Given the description of an element on the screen output the (x, y) to click on. 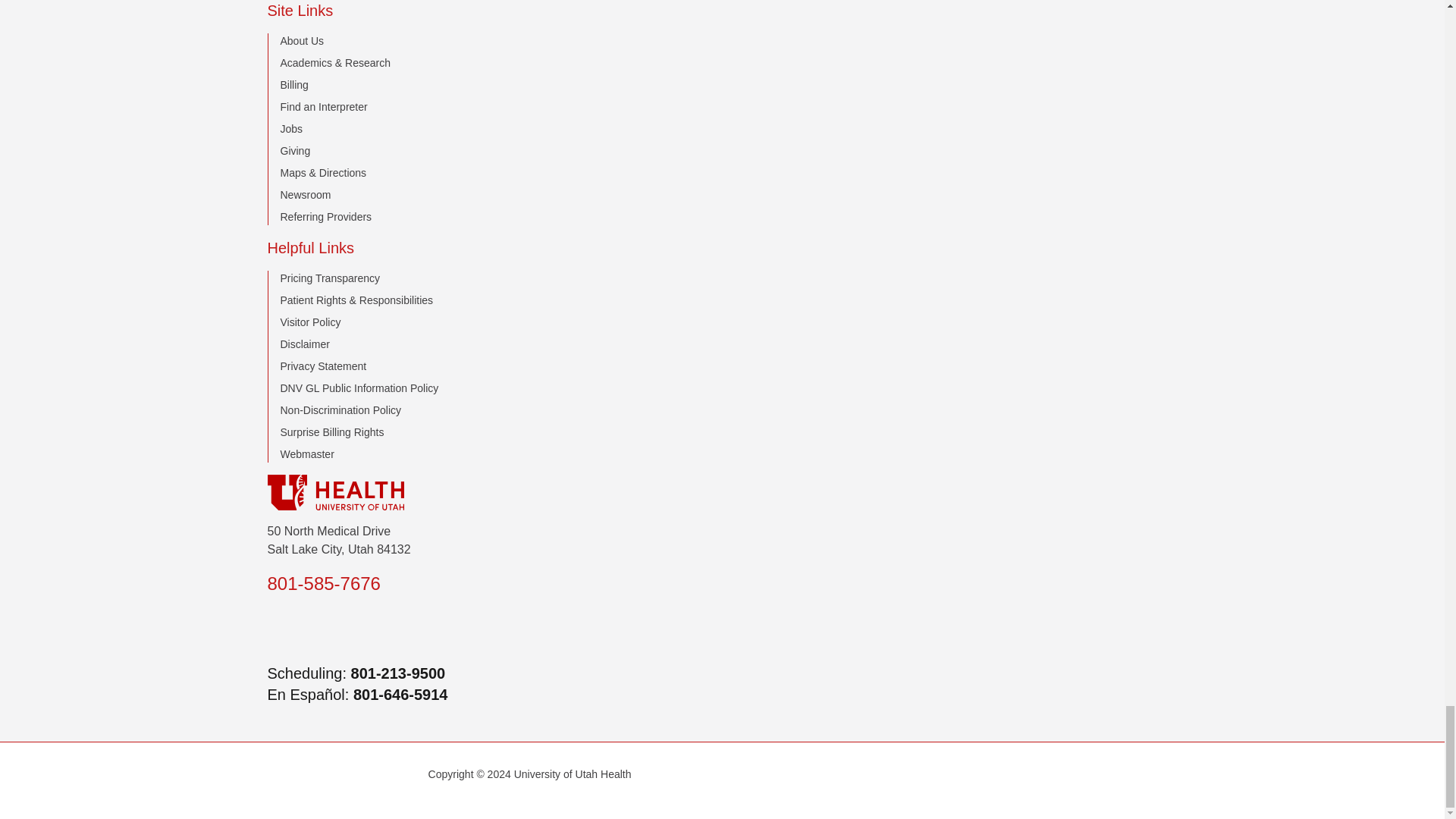
University of Utah Healthcare (721, 492)
